Given the description of an element on the screen output the (x, y) to click on. 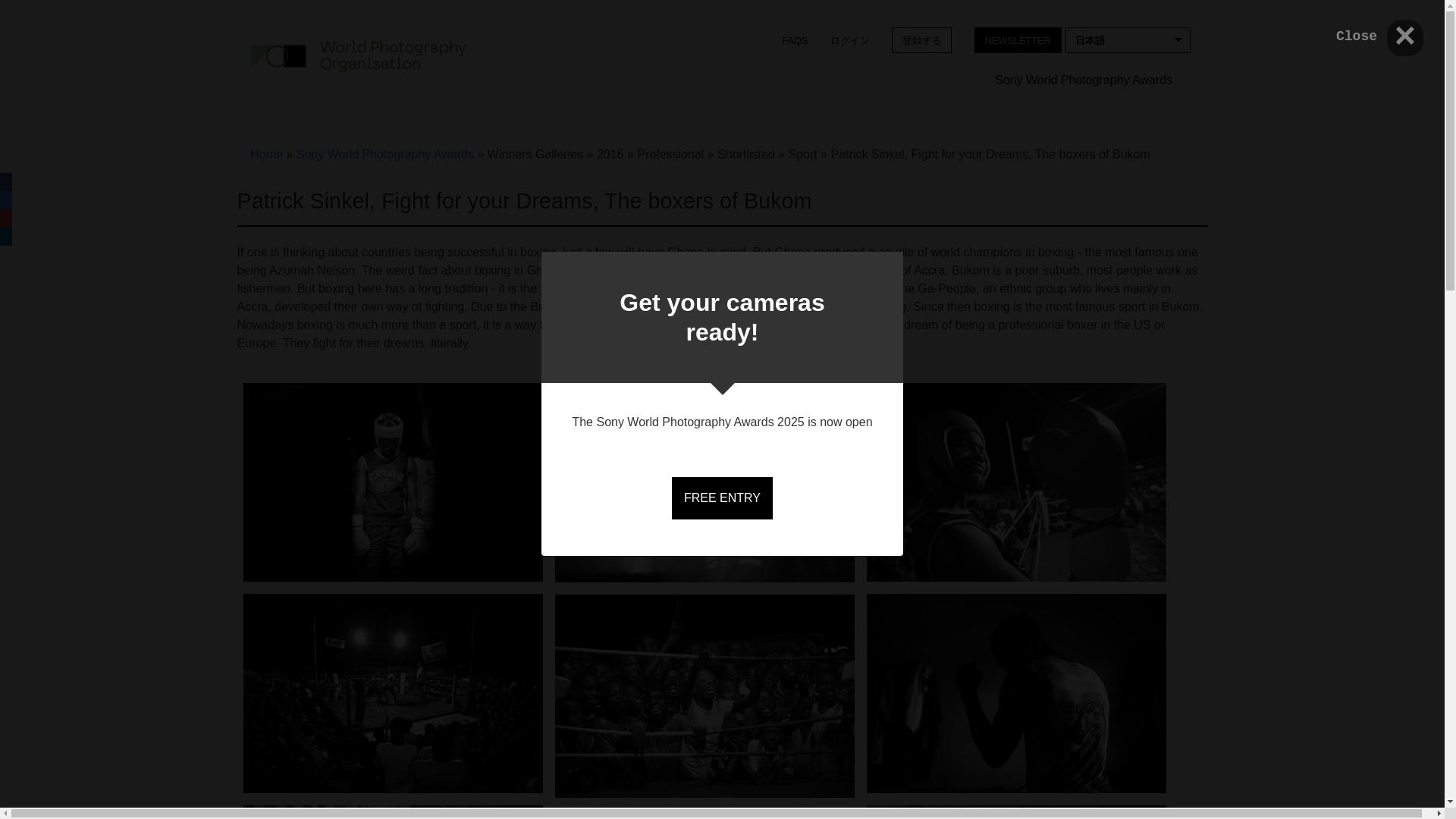
FREE ENTRY (722, 497)
Sony World Photography Awards (1082, 81)
Get your cameras ready! (722, 316)
NEWSLETTER (1018, 39)
Home (357, 55)
FAQS (795, 39)
